Given the description of an element on the screen output the (x, y) to click on. 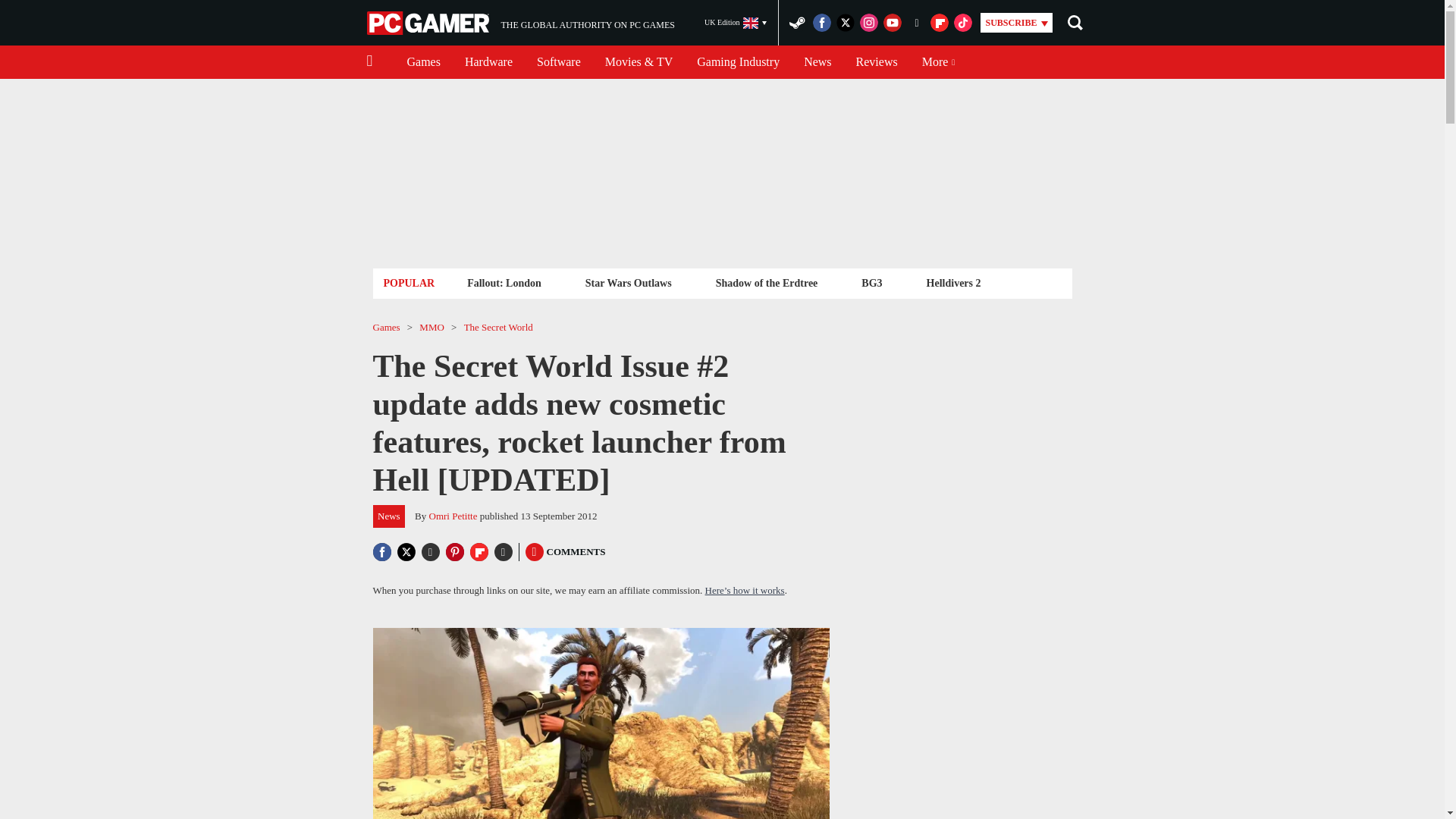
Games (422, 61)
Gaming Industry (738, 61)
Fallout: London (504, 282)
UK Edition (735, 22)
Reviews (877, 61)
Hardware (488, 61)
Software (558, 61)
News (520, 22)
Star Wars Outlaws (817, 61)
